Given the description of an element on the screen output the (x, y) to click on. 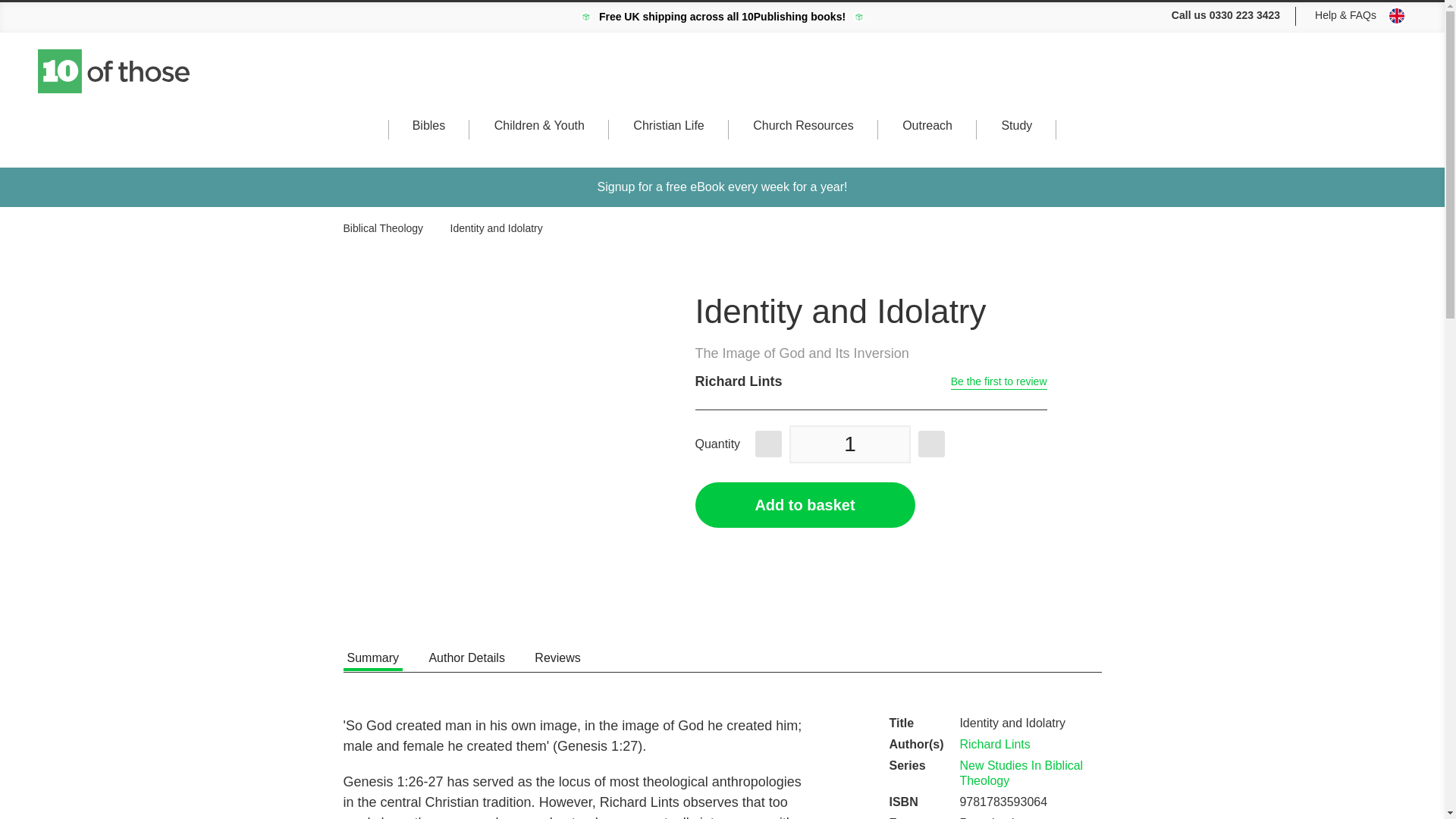
Christian Life (668, 140)
0330 223 3423 (1244, 15)
Favourites (1379, 78)
1 (850, 444)
10 of those (114, 71)
Free UK shipping across all 10Publishing books! (721, 16)
